Given the description of an element on the screen output the (x, y) to click on. 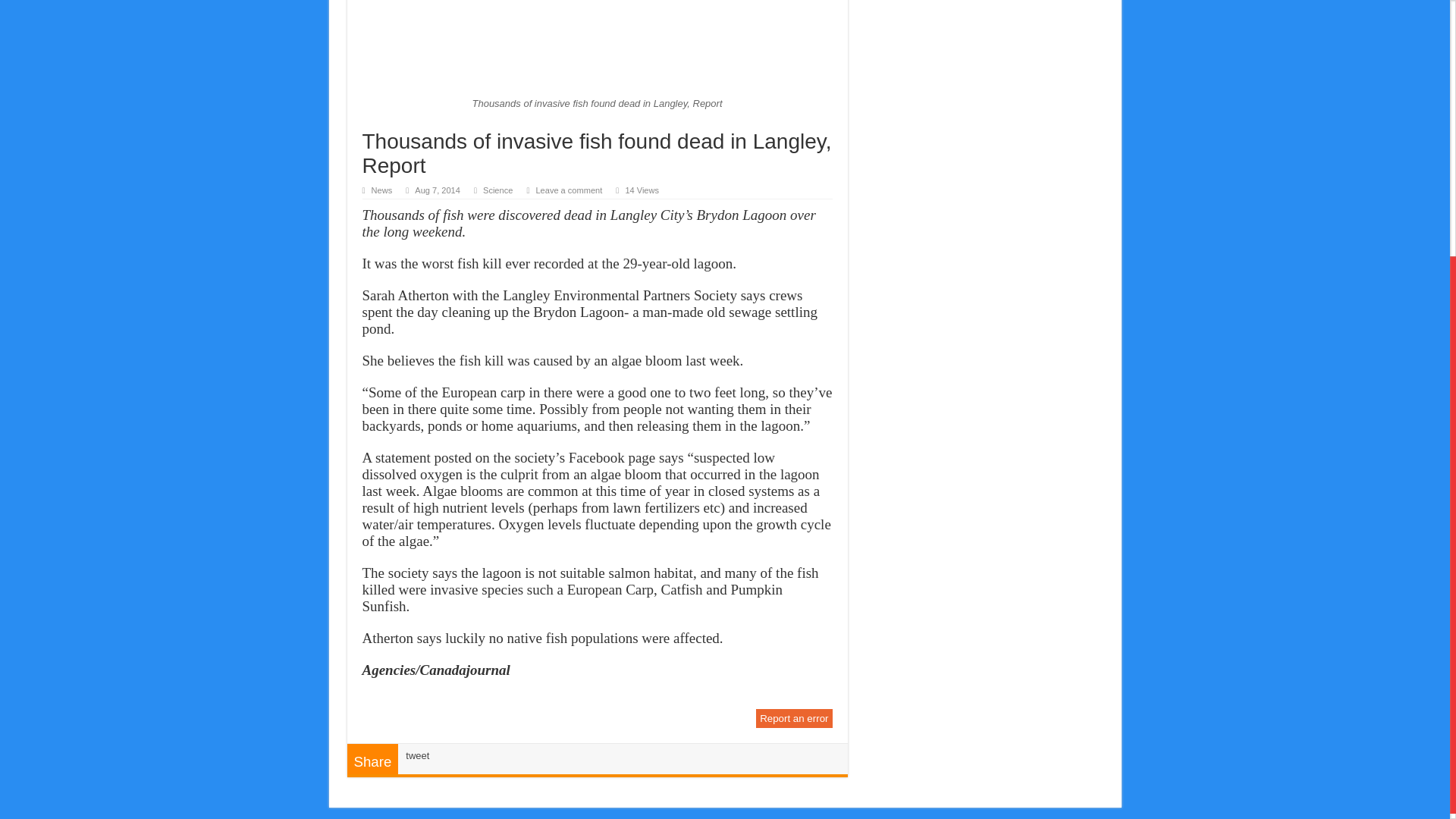
Report an error (793, 718)
tweet (417, 755)
Leave a comment (568, 189)
News (382, 189)
Science (497, 189)
